Given the description of an element on the screen output the (x, y) to click on. 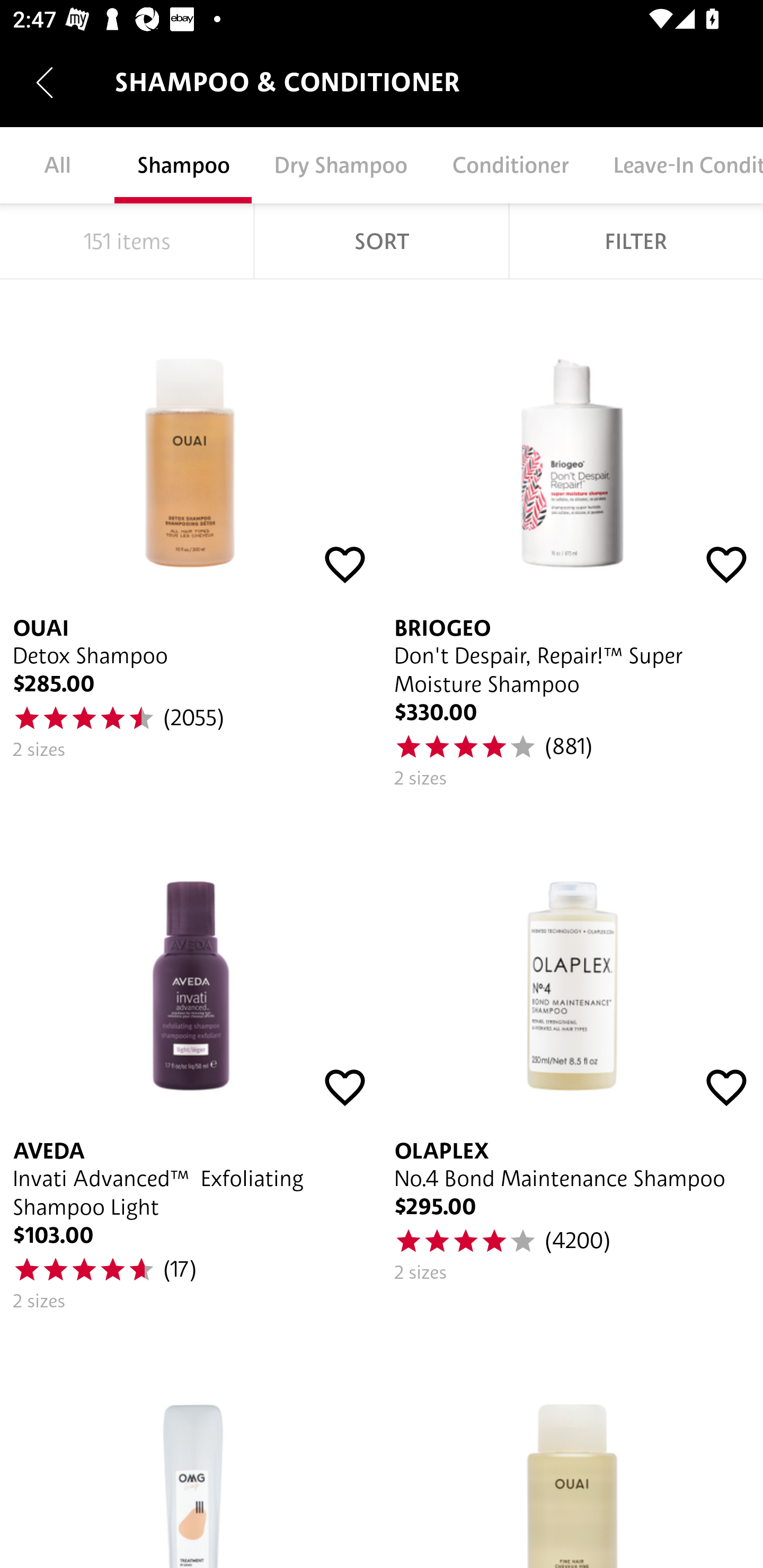
Navigate up (44, 82)
All (57, 165)
Dry Shampoo (340, 165)
Conditioner (509, 165)
Leave-In Conditioner (676, 165)
SORT (381, 241)
FILTER (636, 241)
OUAI Detox Shampoo $285.00 45.0 (2055) 2 sizes (190, 540)
